Given the description of an element on the screen output the (x, y) to click on. 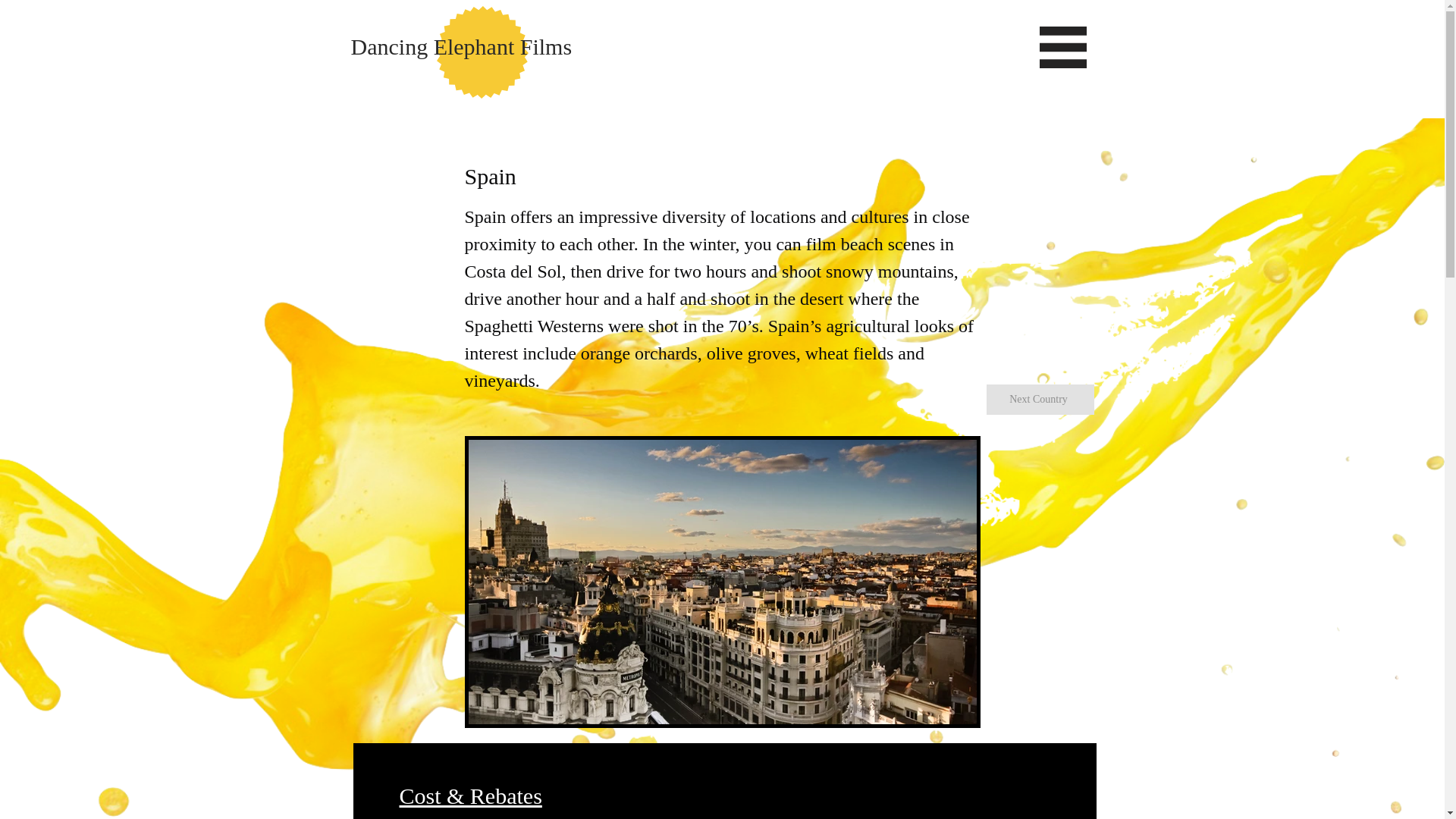
Dancing Elephant Films (461, 46)
Next Country (1039, 399)
